Given the description of an element on the screen output the (x, y) to click on. 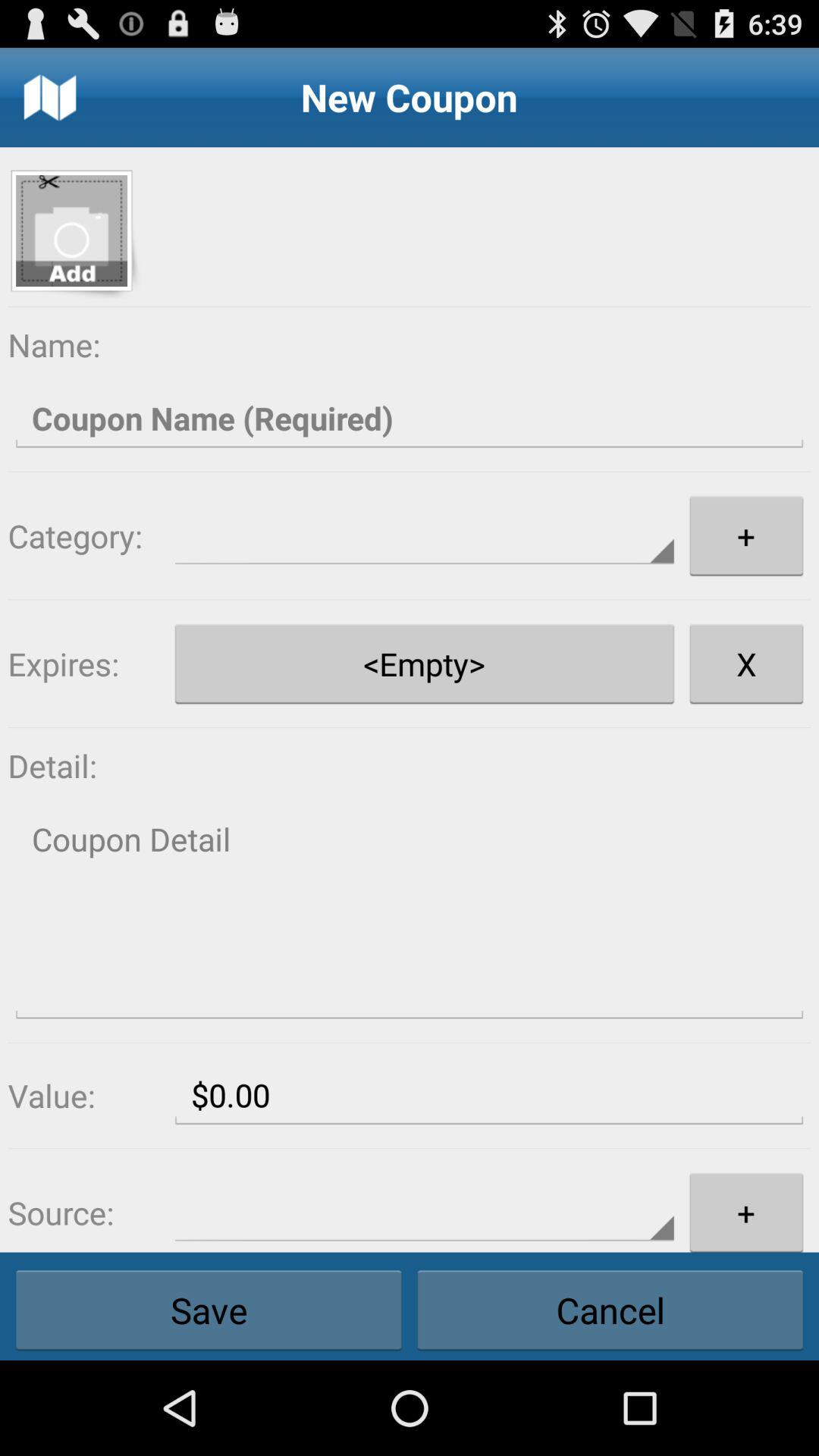
enter coupon name (409, 418)
